Given the description of an element on the screen output the (x, y) to click on. 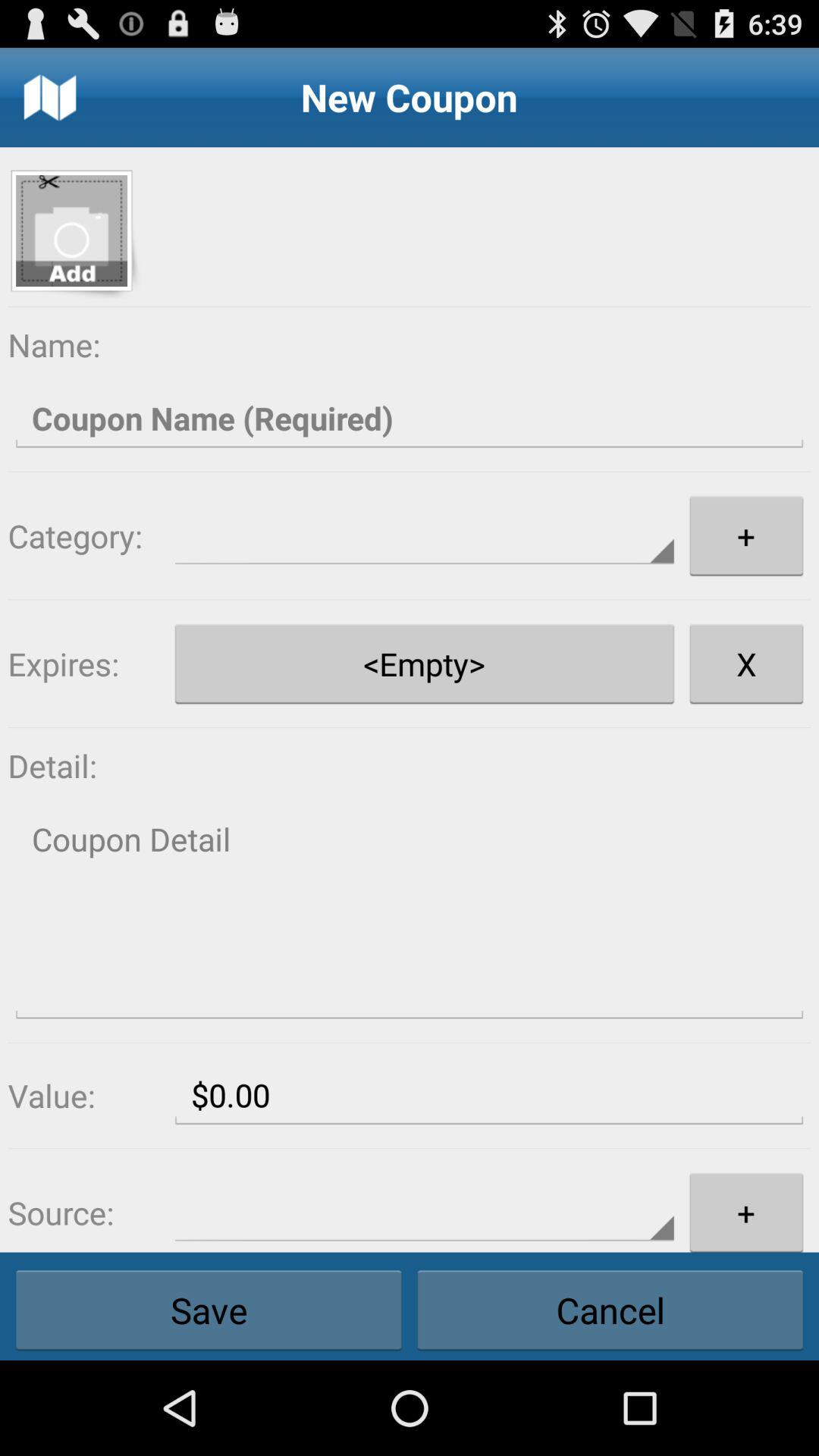
enter coupon name (409, 418)
